Given the description of an element on the screen output the (x, y) to click on. 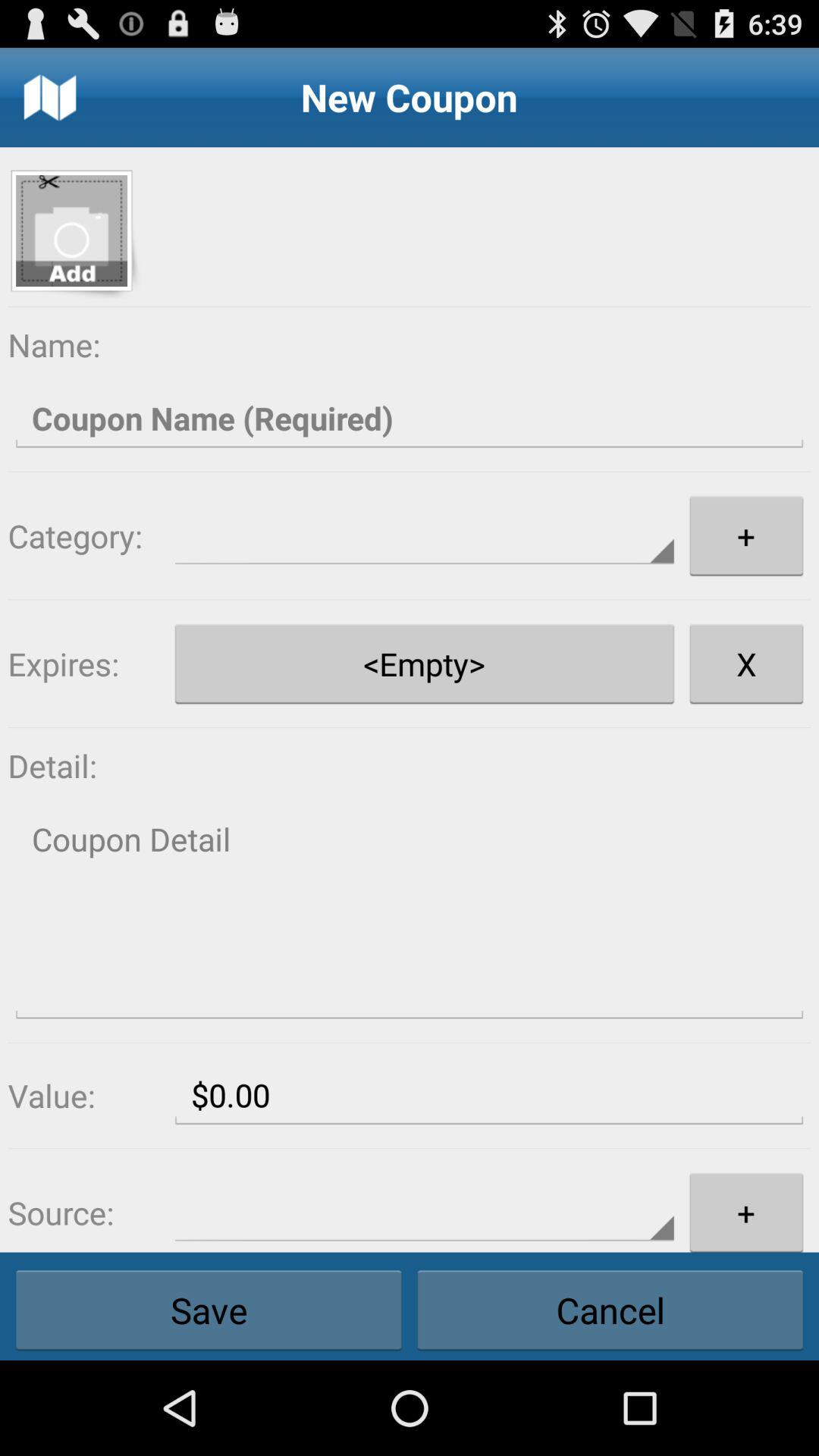
enter coupon name (409, 418)
